Given the description of an element on the screen output the (x, y) to click on. 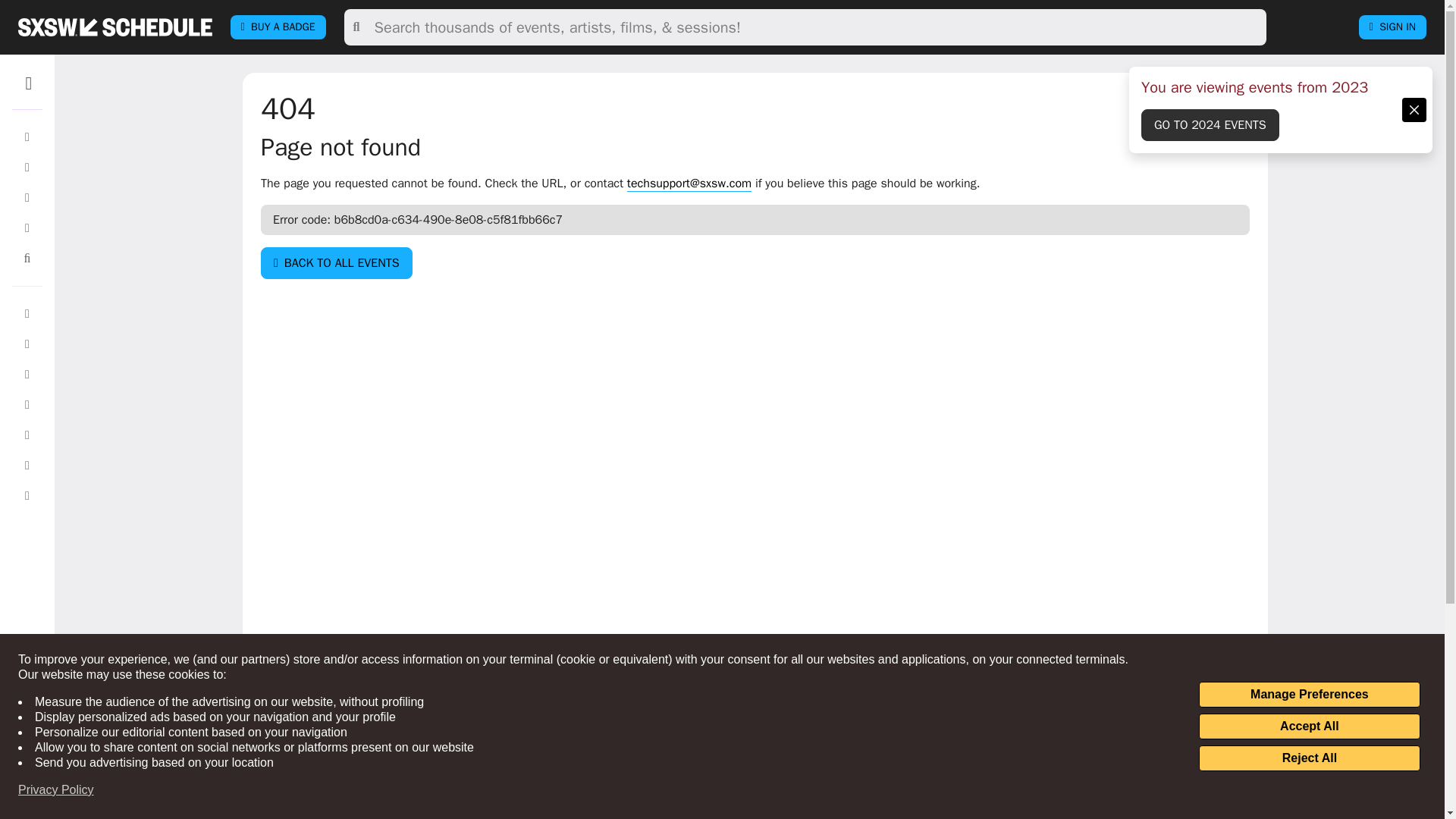
Accept All (1309, 726)
SIGN IN (1392, 27)
Manage Preferences (1309, 694)
GO TO 2024 EVENTS (1210, 124)
Privacy Policy (55, 789)
BUY A BADGE (278, 27)
Reject All (1309, 758)
sxsw SCHEDULE (114, 27)
